Given the description of an element on the screen output the (x, y) to click on. 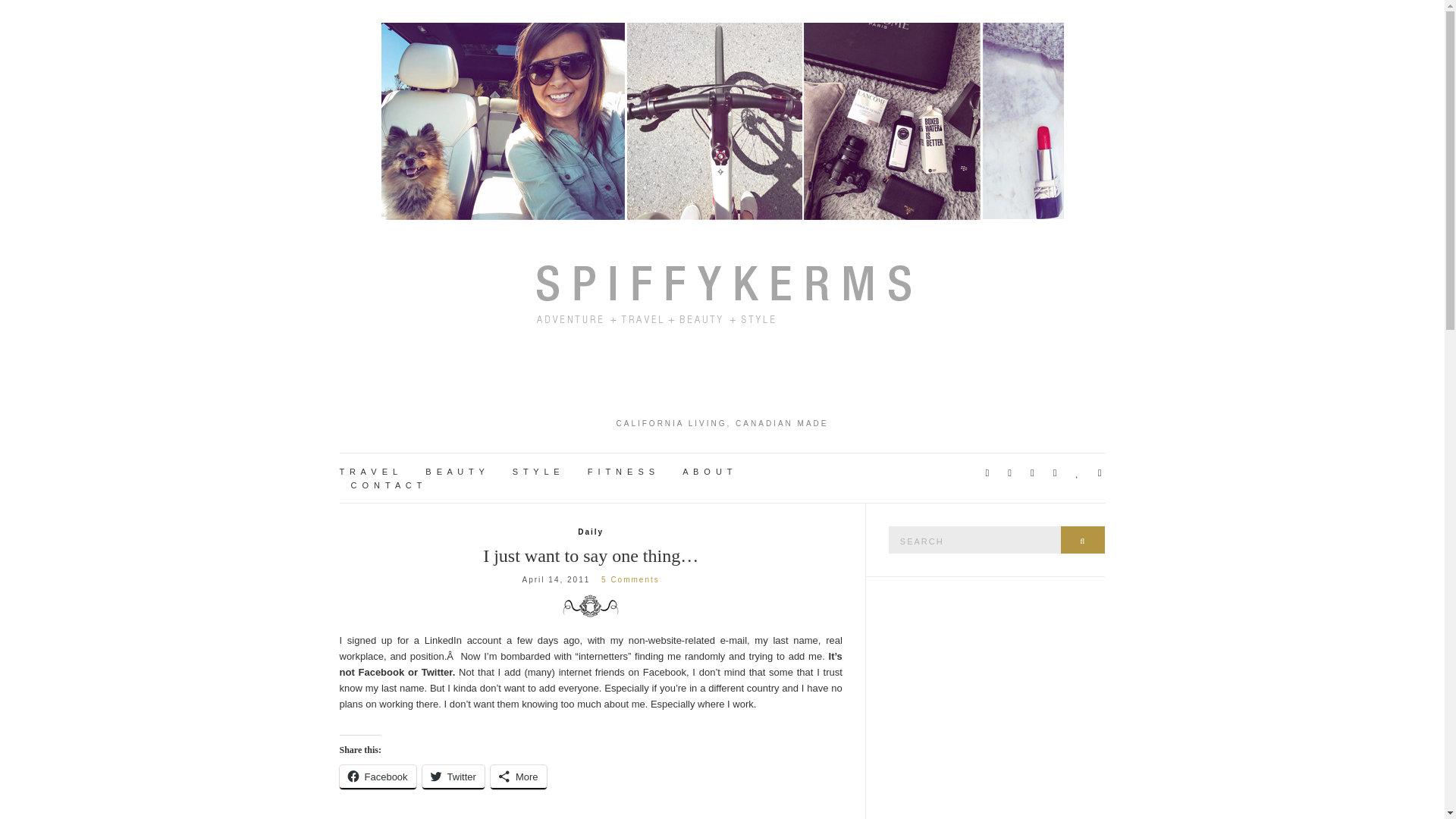
Daily (591, 532)
Click to share on Facebook (377, 776)
T R A V E L (368, 472)
Facebook (377, 776)
C O N T A C T (386, 486)
F I T N E S S (622, 472)
A B O U T (707, 472)
More (518, 776)
5 Comments (630, 579)
S T Y L E (536, 472)
Twitter (453, 776)
B E A U T Y (454, 472)
Click to share on Twitter (453, 776)
